Given the description of an element on the screen output the (x, y) to click on. 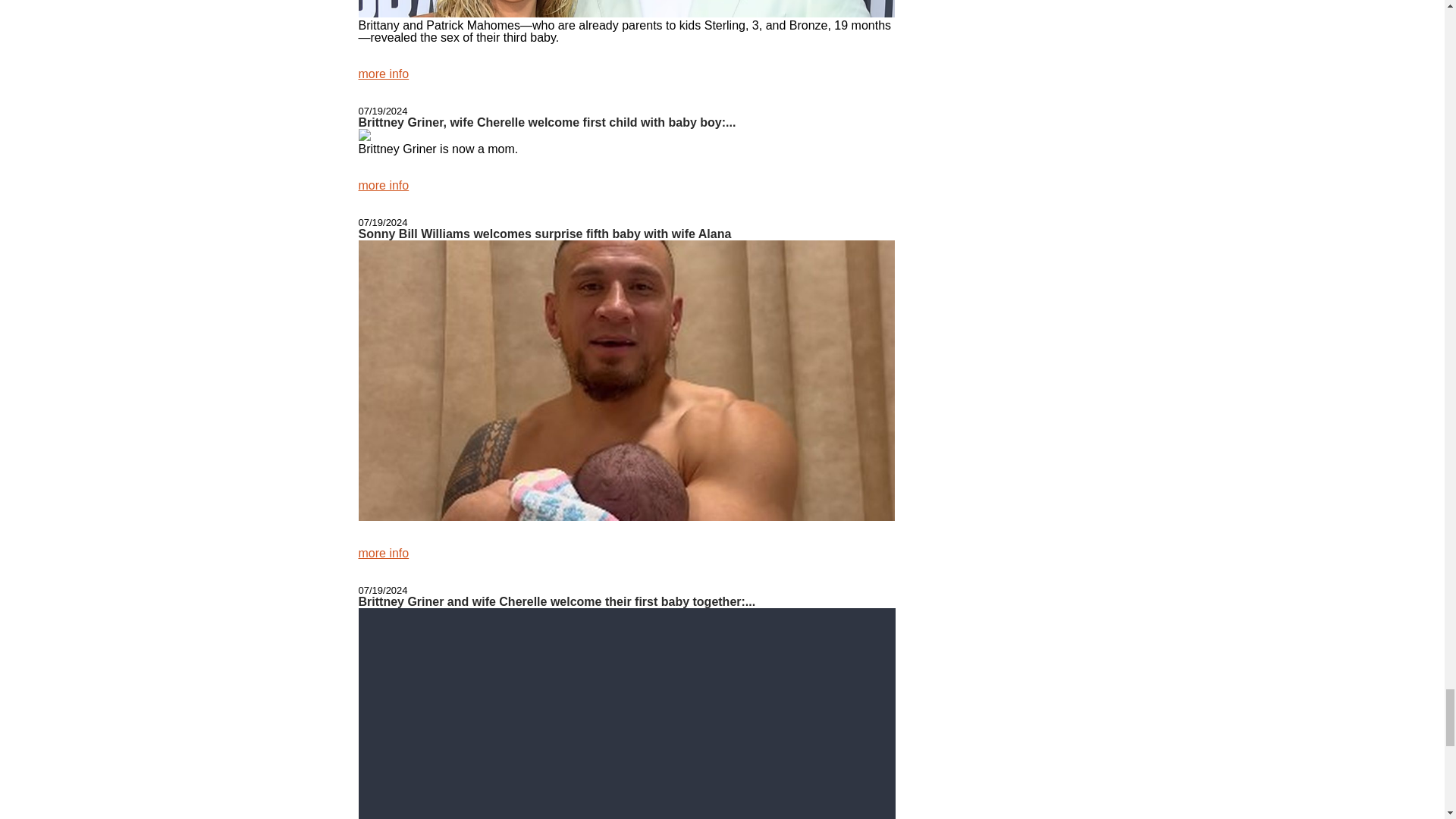
more info (383, 553)
more info (383, 185)
more info (383, 73)
